Given the description of an element on the screen output the (x, y) to click on. 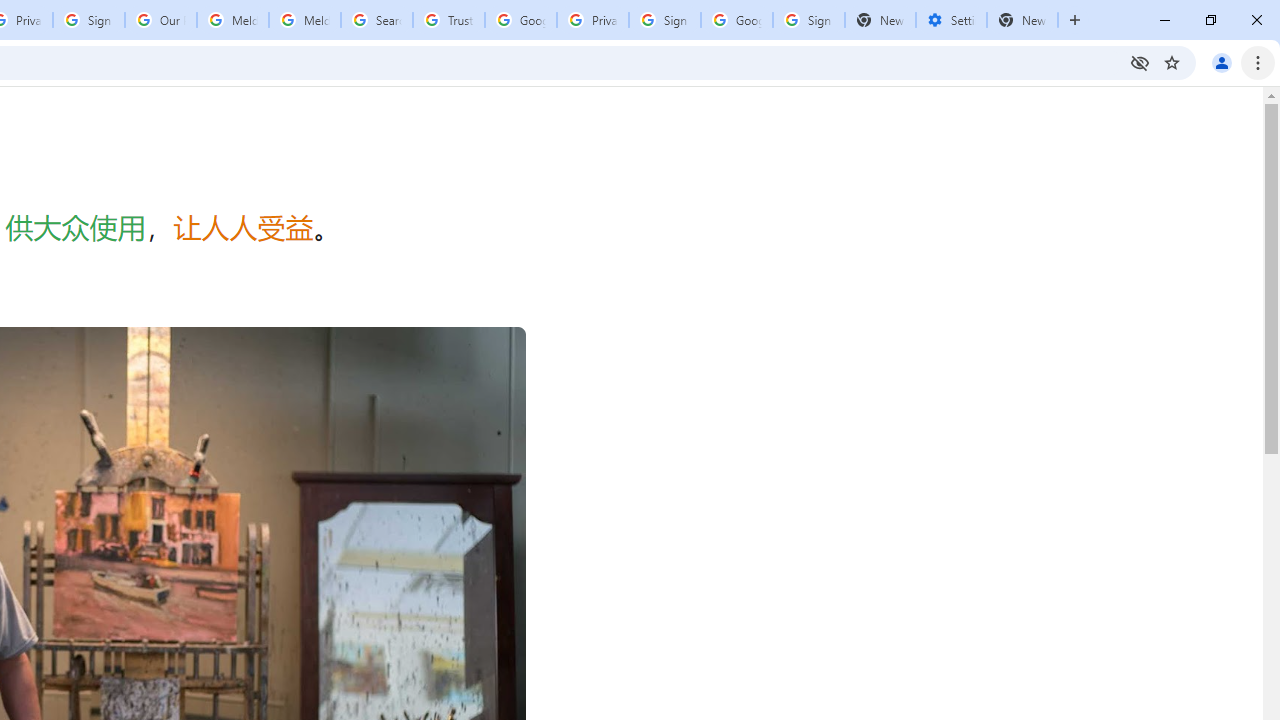
New Tab (1022, 20)
Google Cybersecurity Innovations - Google Safety Center (737, 20)
Search our Doodle Library Collection - Google Doodles (376, 20)
Google Ads - Sign in (520, 20)
Sign in - Google Accounts (88, 20)
Sign in - Google Accounts (664, 20)
